Given the description of an element on the screen output the (x, y) to click on. 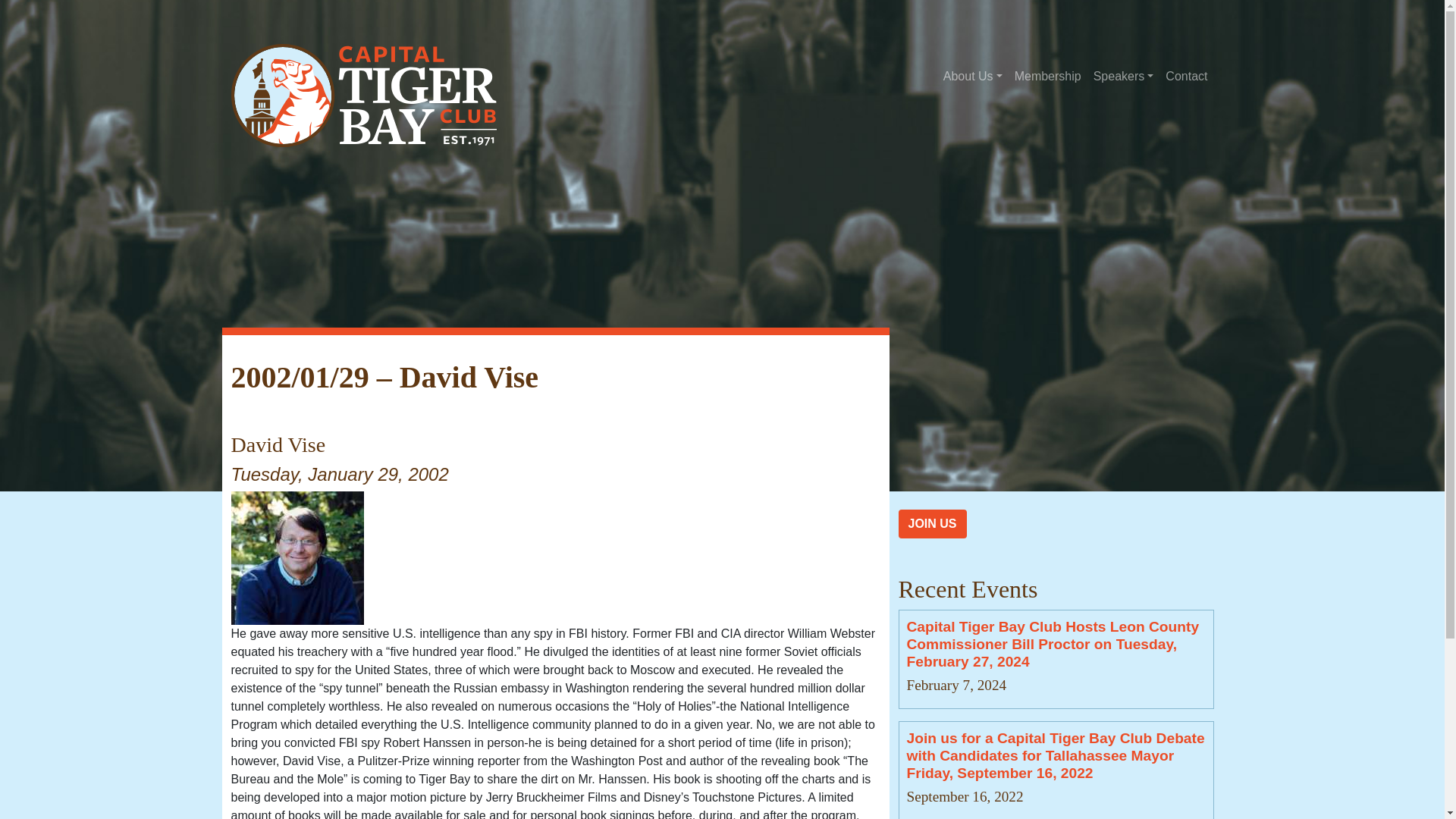
Speakers (1123, 76)
Membership (1048, 76)
JOIN US (932, 523)
Membership (1048, 76)
About Us (973, 76)
About Us (973, 76)
Contact (1185, 76)
Contact (1185, 76)
Speakers (1123, 76)
